Given the description of an element on the screen output the (x, y) to click on. 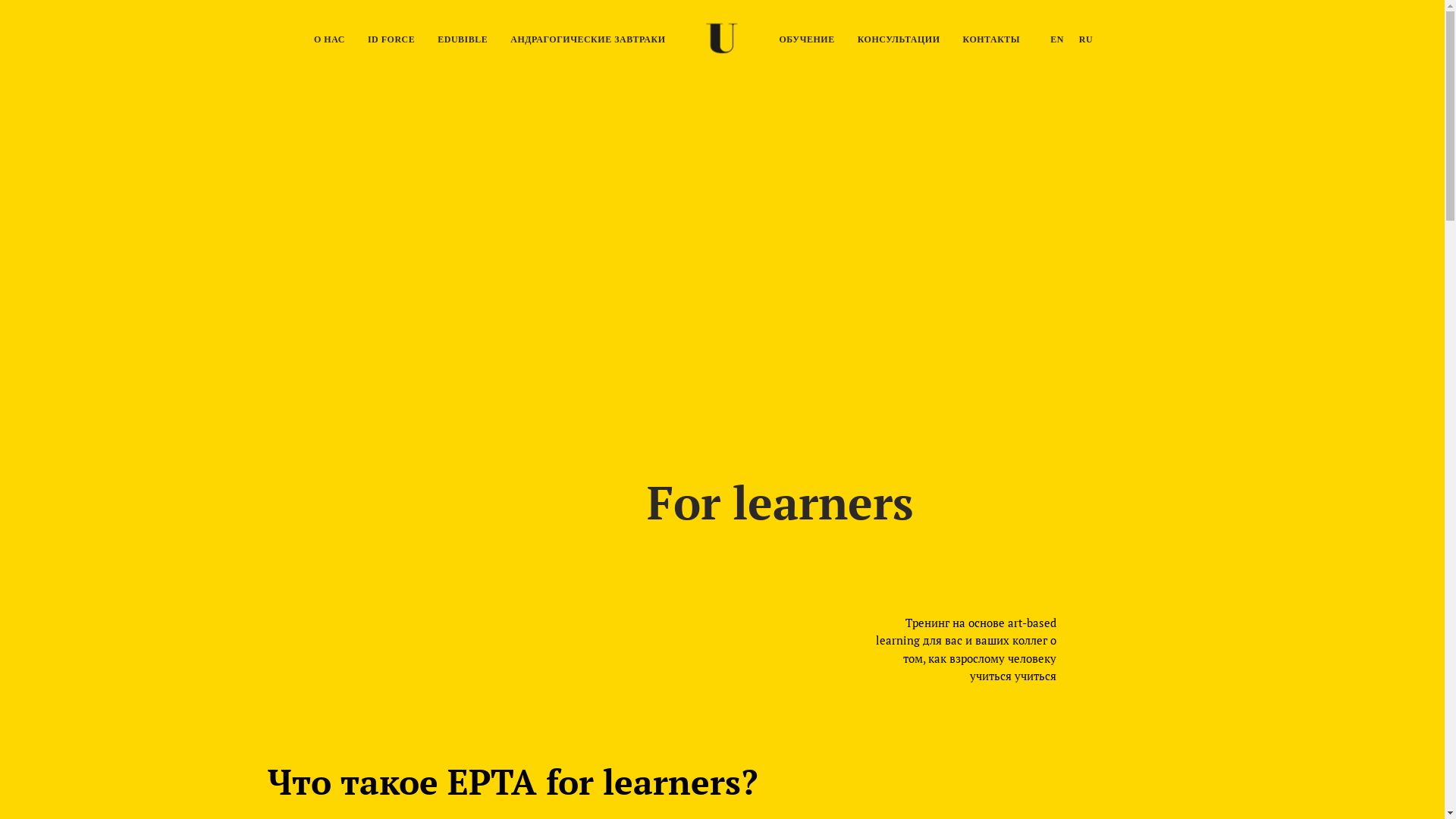
ID FORCE Element type: text (390, 39)
EN Element type: text (1056, 39)
EDUBIBLE Element type: text (462, 39)
RU Element type: text (1085, 39)
